Given the description of an element on the screen output the (x, y) to click on. 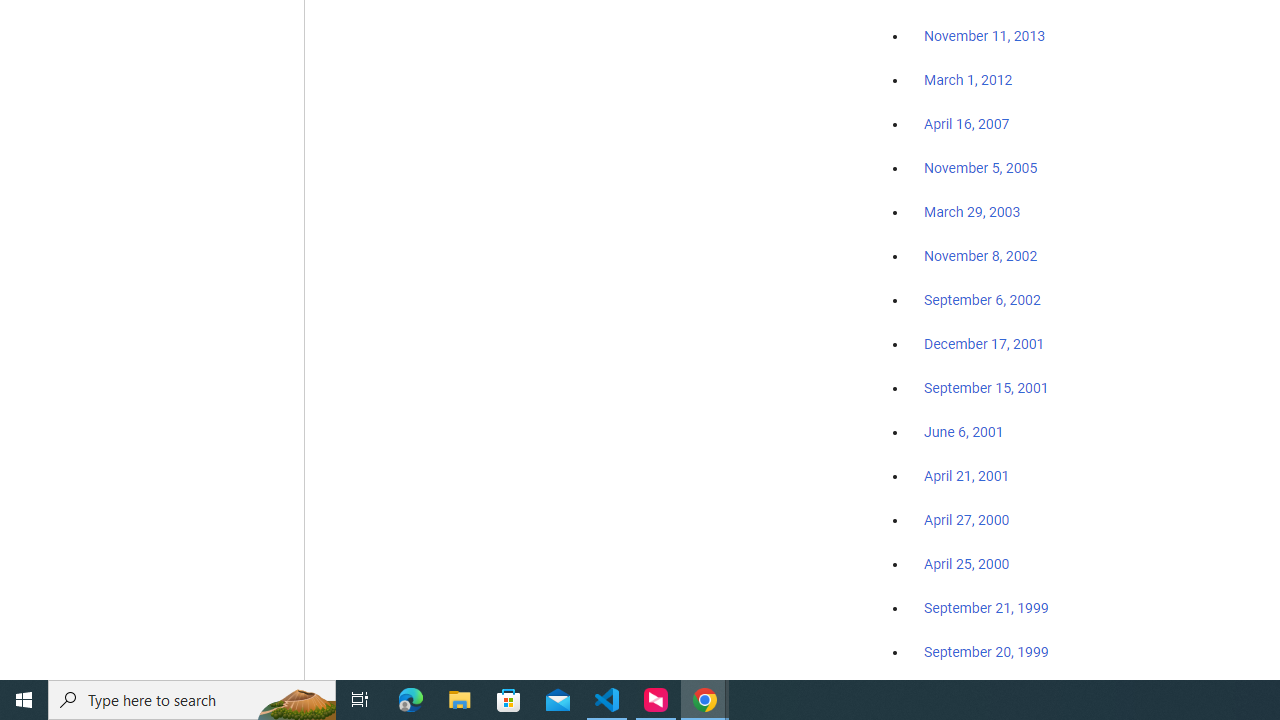
December 17, 2001 (984, 343)
April 27, 2000 (966, 520)
April 25, 2000 (966, 564)
March 1, 2012 (968, 81)
June 6, 2001 (963, 431)
September 21, 1999 (986, 608)
April 16, 2007 (966, 124)
September 20, 1999 (986, 651)
September 6, 2002 (982, 299)
November 5, 2005 (981, 168)
November 11, 2013 (984, 37)
March 29, 2003 (972, 212)
September 15, 2001 (986, 387)
April 21, 2001 (966, 476)
November 8, 2002 (981, 255)
